Given the description of an element on the screen output the (x, y) to click on. 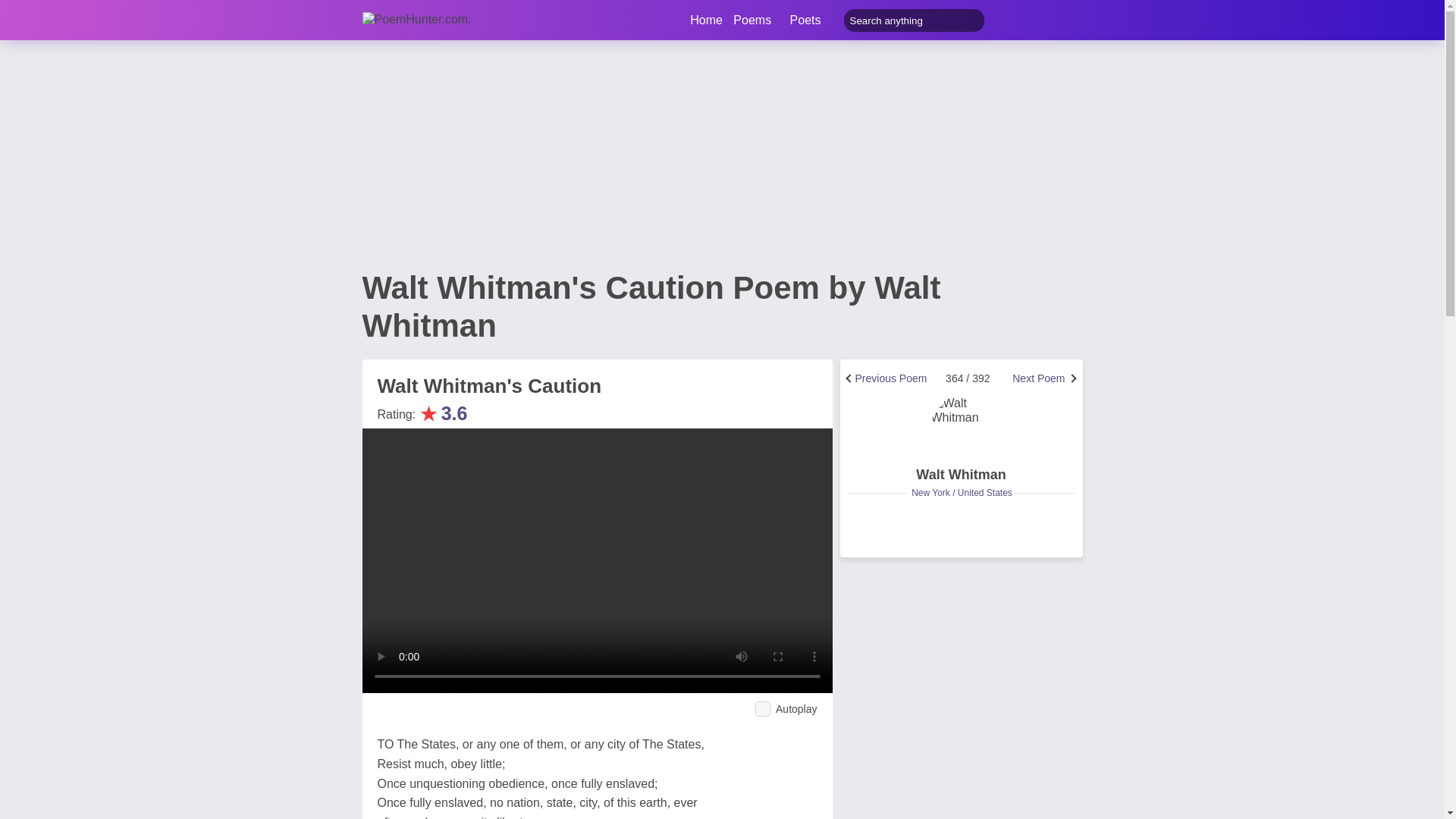
PoemHunter.com: Poems - Poets - Poetry (435, 20)
PoemHunter.com: Poems - Poets - Poetry (706, 19)
Home (706, 19)
